Given the description of an element on the screen output the (x, y) to click on. 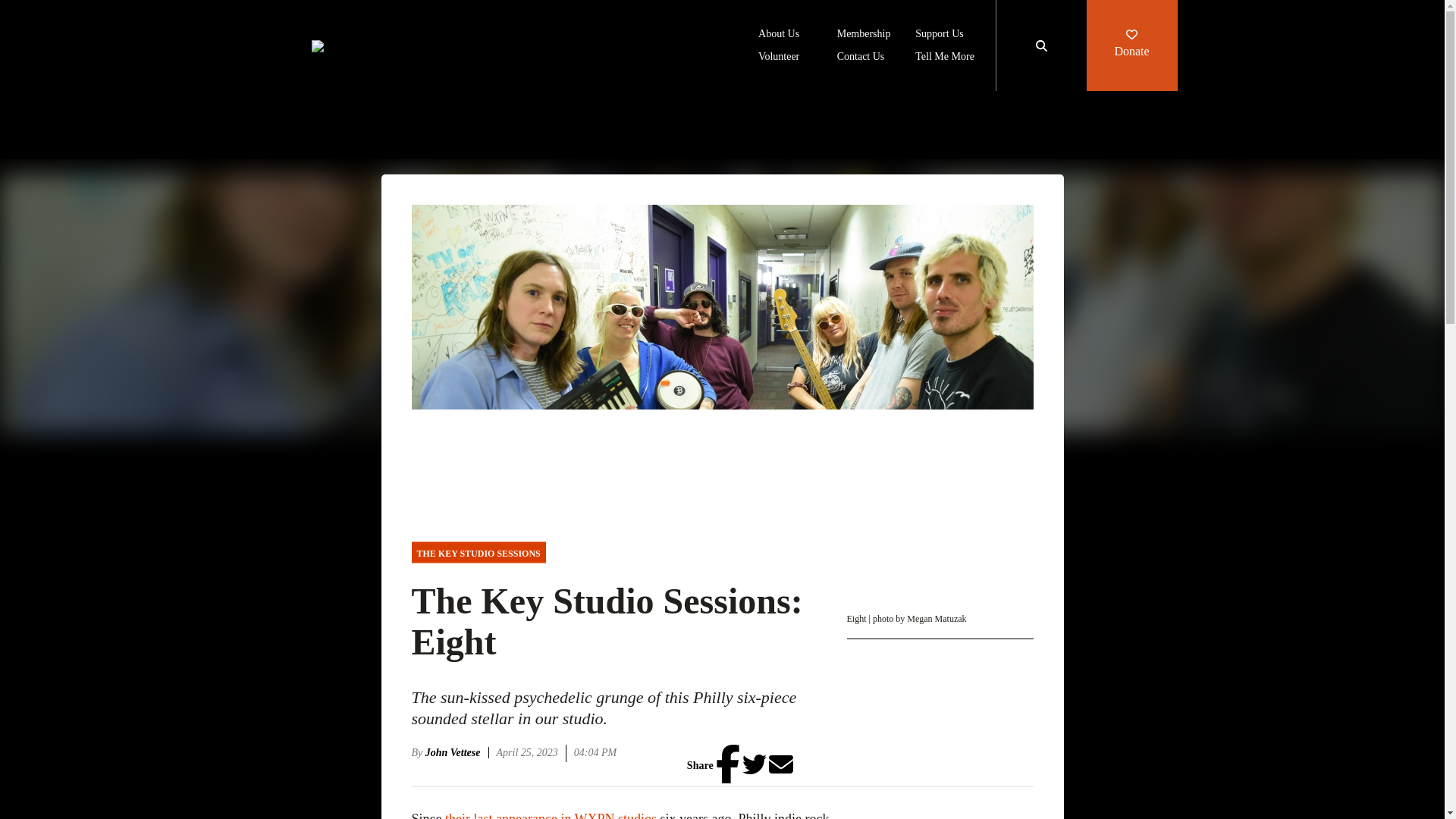
John Vettese (457, 752)
About Us (778, 35)
Membership (864, 35)
Donate (1131, 45)
Contact Us (861, 57)
Support Us (938, 35)
Tell Me More (944, 57)
Volunteer (778, 57)
their last appearance in WXPN studios (550, 815)
